Given the description of an element on the screen output the (x, y) to click on. 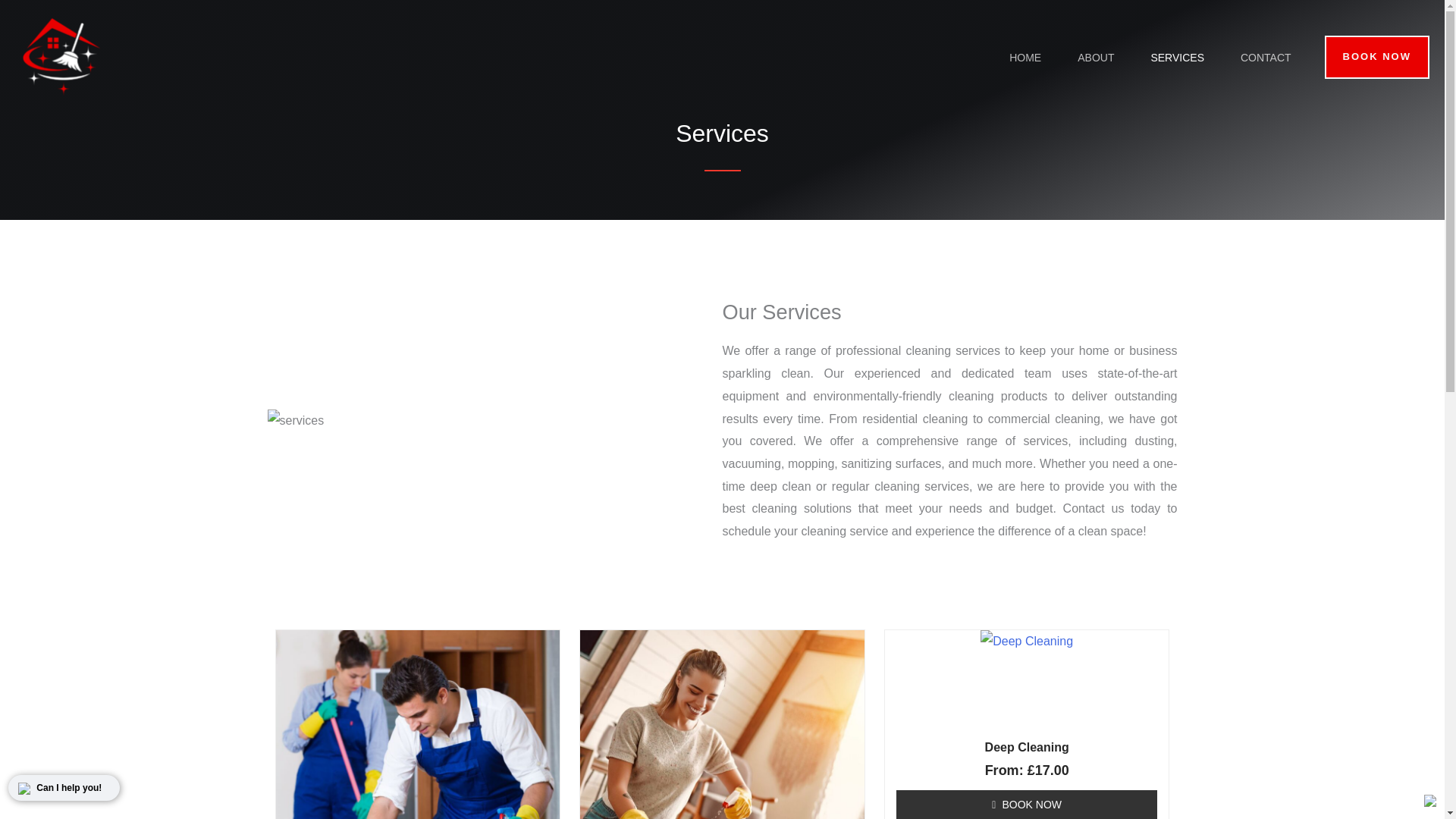
CONTACT (1265, 57)
BOOK NOW (1026, 804)
Deep Cleaning (1027, 747)
BOOK NOW (1376, 56)
ABOUT (1095, 57)
SERVICES (1177, 57)
services (294, 420)
